Given the description of an element on the screen output the (x, y) to click on. 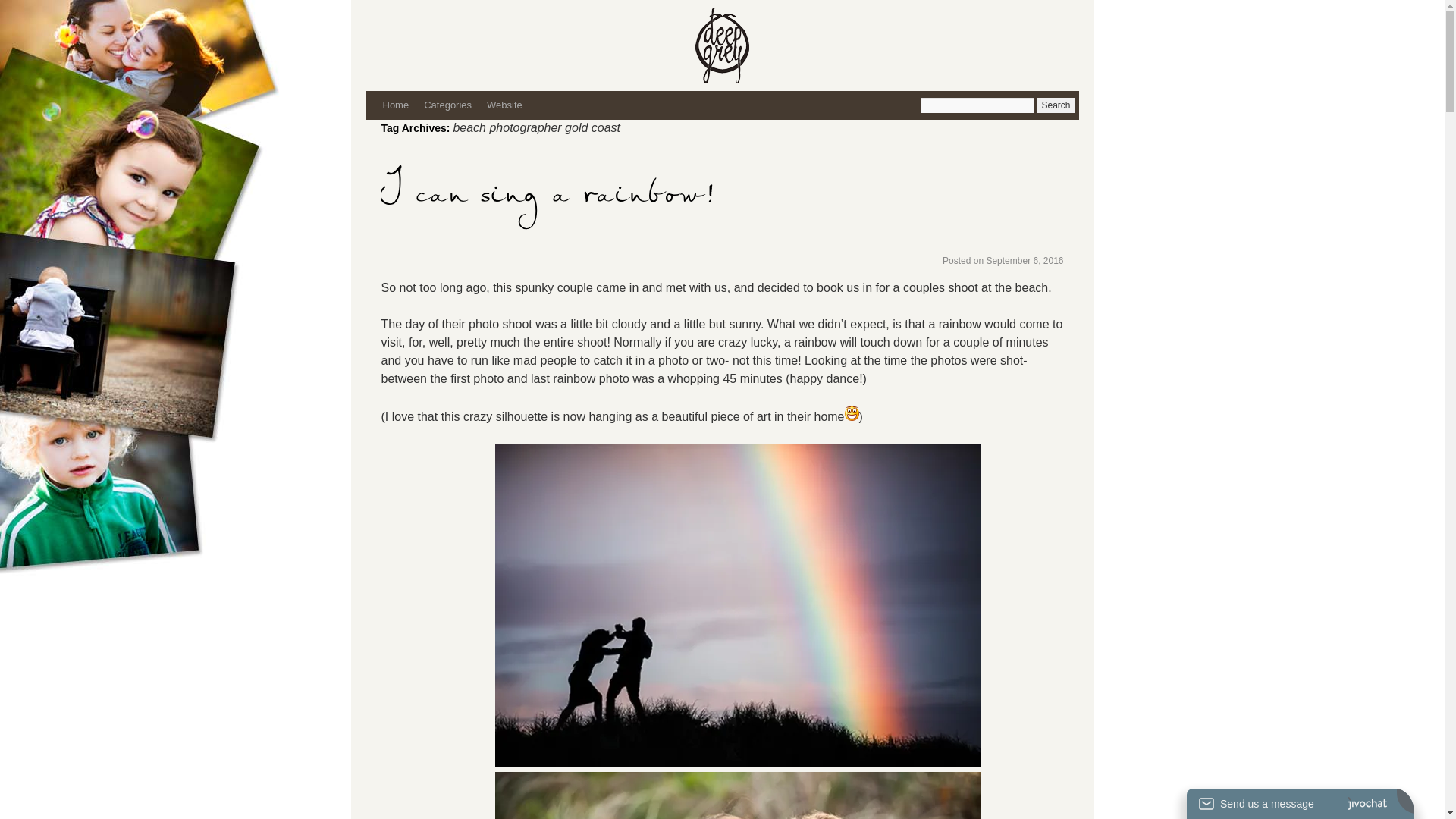
Search Element type: text (1056, 104)
September 6, 2016 Element type: text (1024, 260)
Website Element type: text (504, 105)
Gold Coast Beach Couple Shoot001 Element type: hover (736, 605)
Home Element type: text (395, 105)
Deep Grey Element type: hover (886, 45)
I 
can 
sing 
a 
rainbow! Element type: text (547, 205)
Categories Element type: text (447, 105)
